Given the description of an element on the screen output the (x, y) to click on. 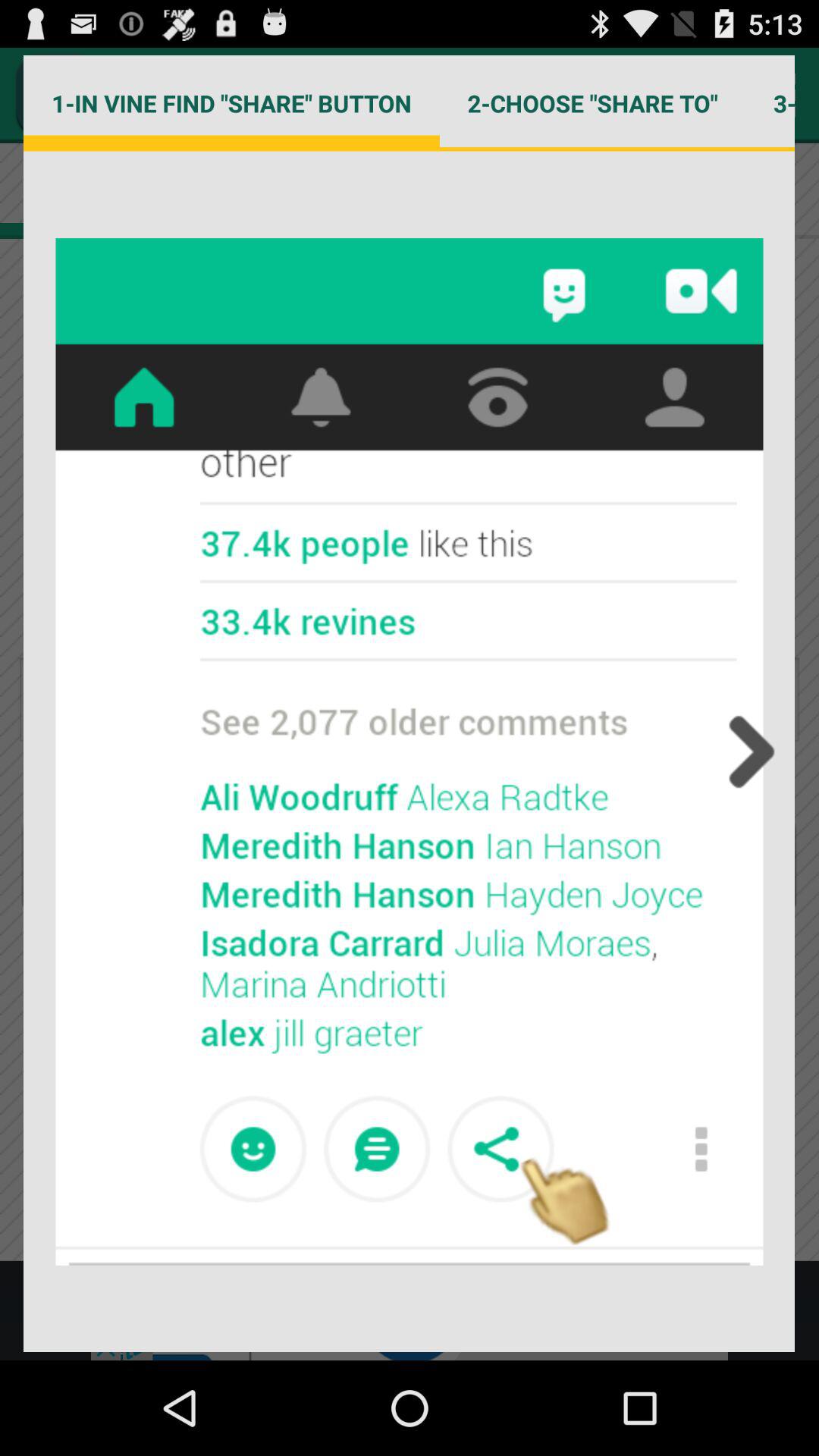
click the icon to the right of 2 choose share (770, 103)
